Given the description of an element on the screen output the (x, y) to click on. 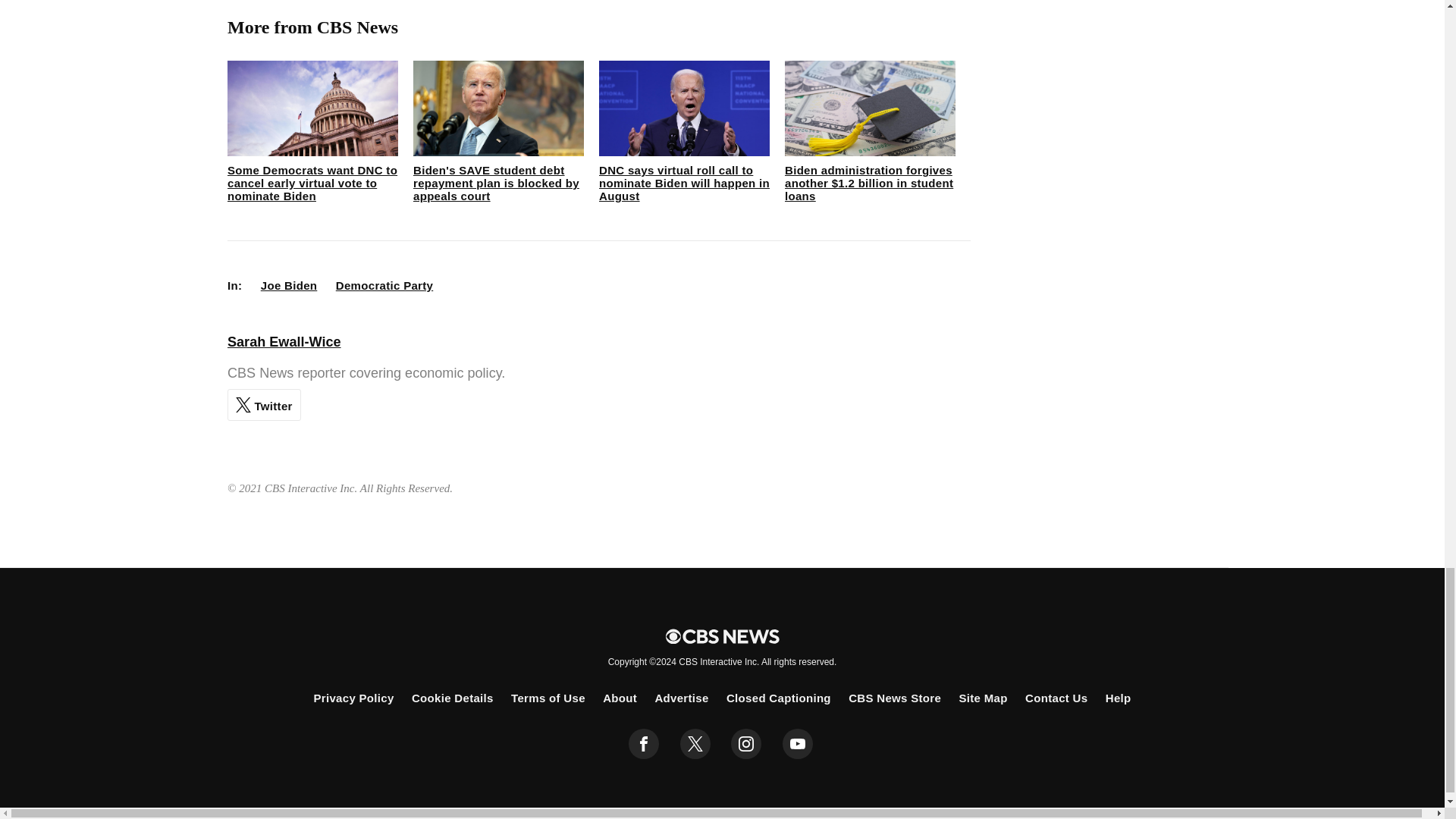
instagram (745, 743)
youtube (797, 743)
facebook (643, 743)
twitter (694, 743)
